Given the description of an element on the screen output the (x, y) to click on. 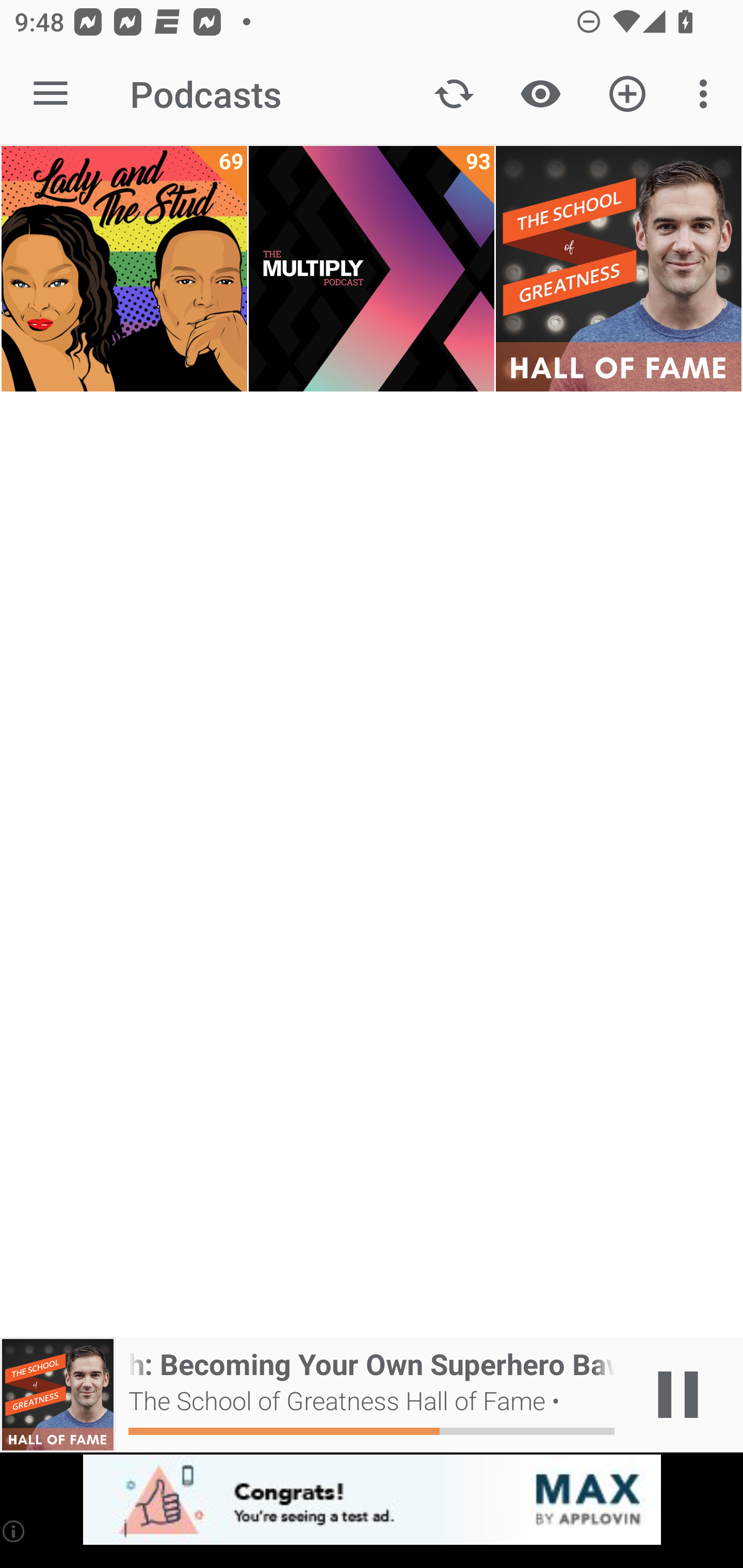
Open navigation sidebar (50, 93)
Update (453, 93)
Show / Hide played content (540, 93)
Add new Podcast (626, 93)
More options (706, 93)
Lady and The Stud 69 (124, 268)
The Multiply Podcast 93 (371, 268)
The School of Greatness Hall of Fame (618, 268)
Play / Pause (677, 1394)
app-monetization (371, 1500)
(i) (14, 1531)
